Given the description of an element on the screen output the (x, y) to click on. 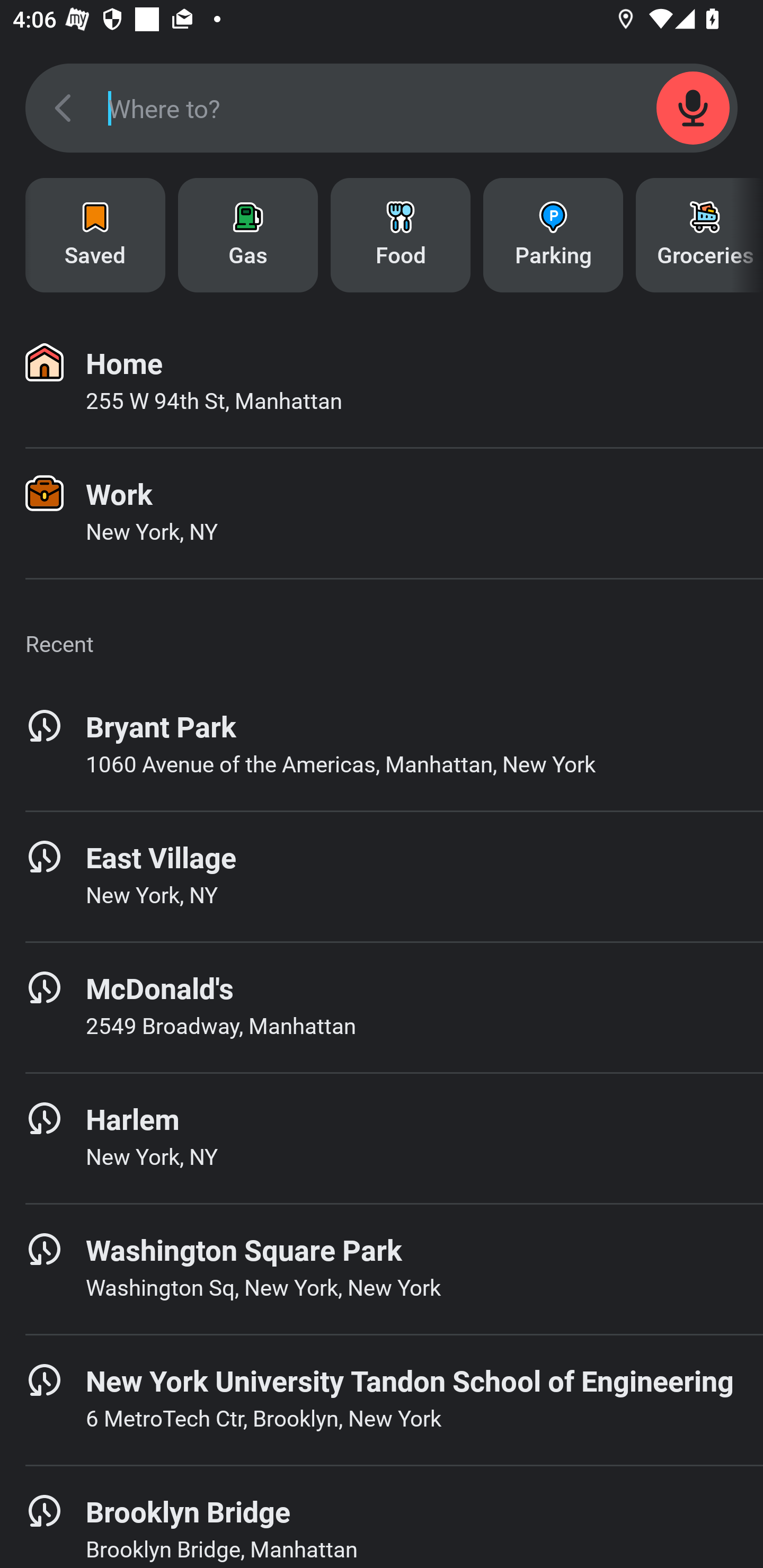
SEARCH_SCREEN_SEARCH_FIELD Where to? (381, 108)
Saved (95, 234)
Gas (247, 234)
Food (400, 234)
Parking (552, 234)
Groceries (699, 234)
Home 255 W 94th St, Manhattan (381, 382)
Work New York, NY (381, 513)
East Village New York, NY (381, 876)
McDonald's 2549 Broadway, Manhattan (381, 1007)
Harlem New York, NY (381, 1138)
Brooklyn Bridge Brooklyn Bridge, Manhattan (381, 1517)
